Given the description of an element on the screen output the (x, y) to click on. 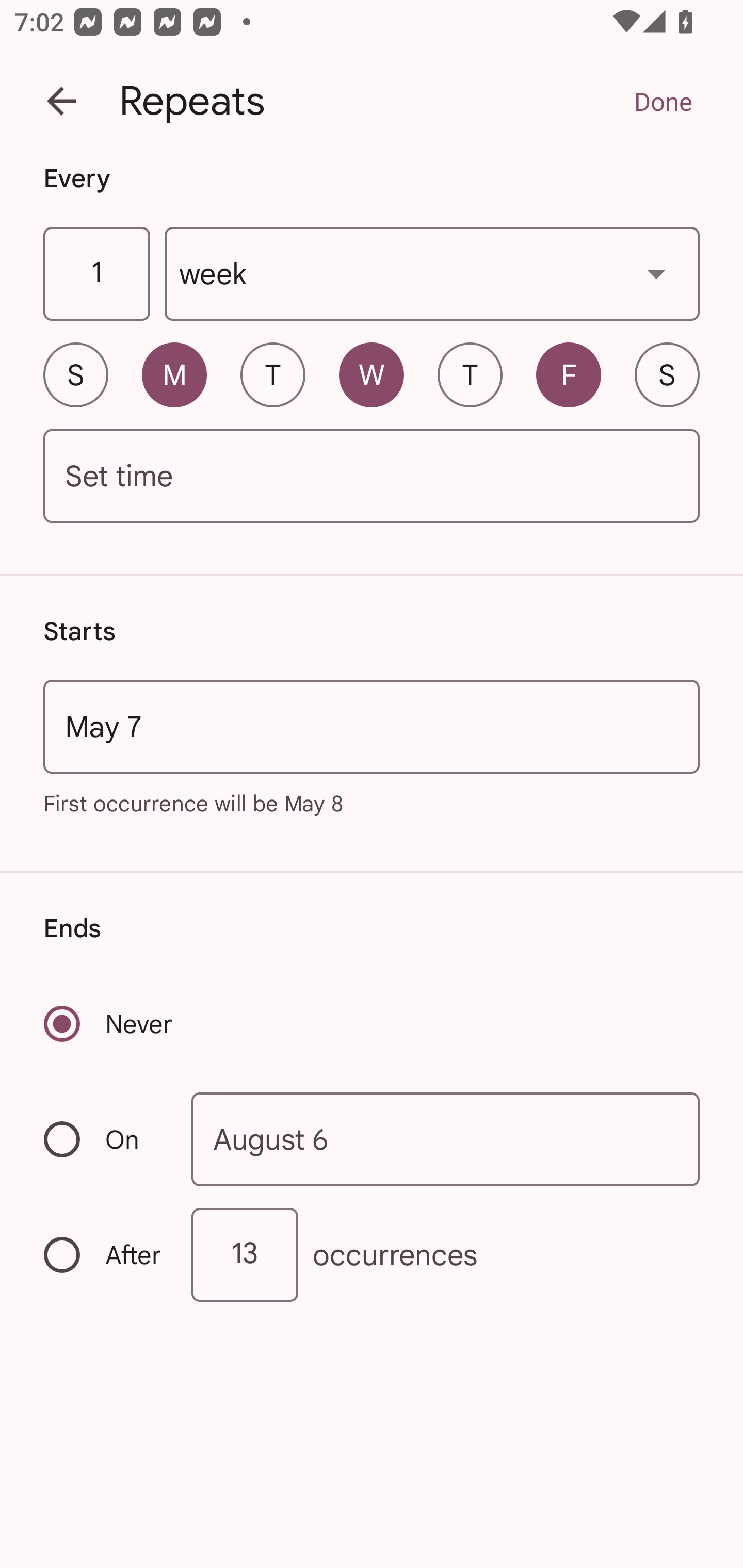
Back (61, 101)
Done (663, 101)
1 (96, 274)
week (431, 274)
Show dropdown menu (655, 273)
S Sunday (75, 374)
M Monday, selected (173, 374)
T Tuesday (272, 374)
W Wednesday, selected (371, 374)
T Thursday (469, 374)
F Friday, selected (568, 374)
S Saturday (666, 374)
Set time (371, 476)
May 7 (371, 726)
Never Recurrence never ends (109, 1023)
August 6 (445, 1139)
On Recurrence ends on a specific date (104, 1138)
13 (244, 1254)
